Given the description of an element on the screen output the (x, y) to click on. 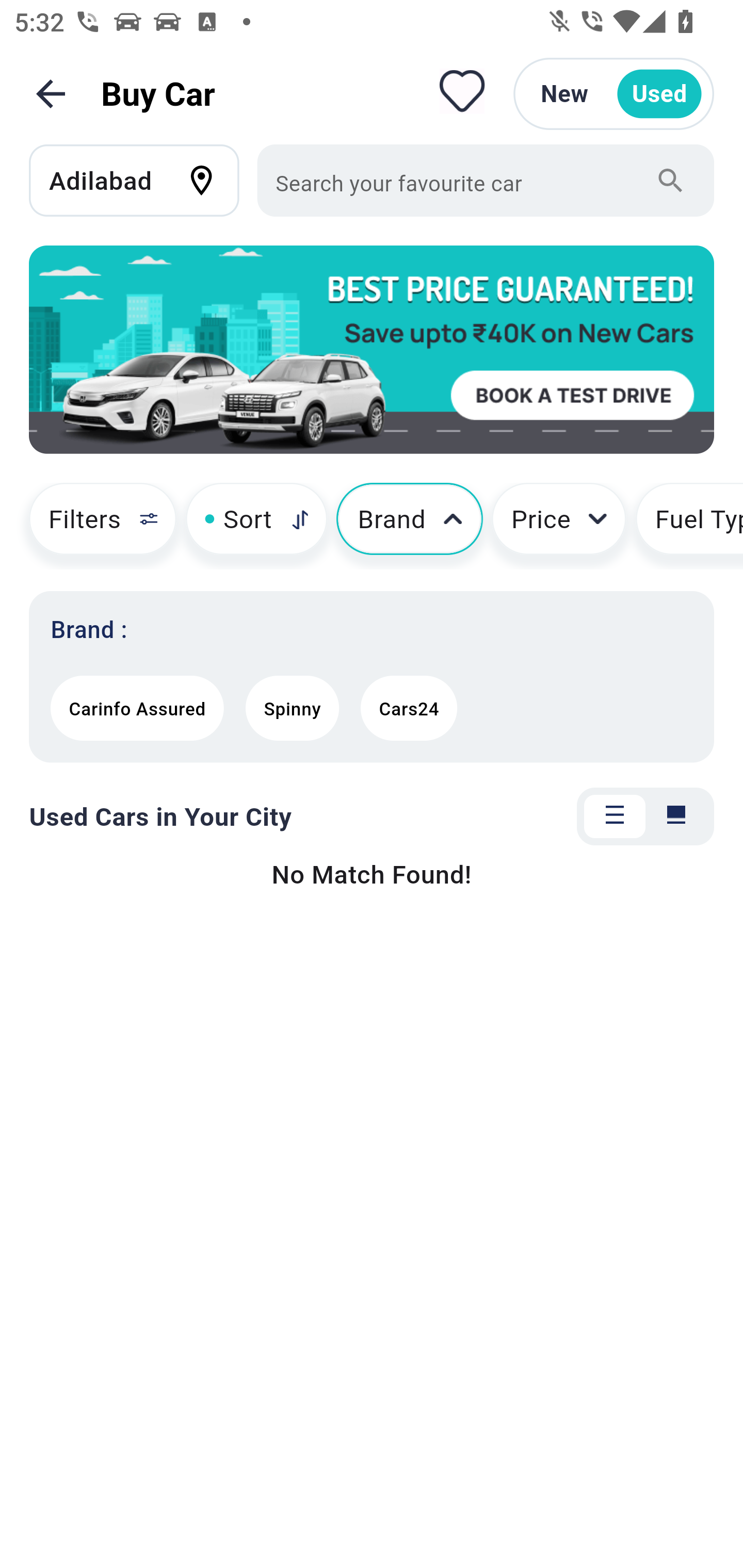
Back (50, 93)
New (564, 93)
Used (659, 93)
Adilabad (142, 180)
Filters (93, 525)
Sort (255, 525)
Brand (409, 525)
Price (558, 525)
Fuel Type (689, 525)
Carinfo Assured (136, 707)
Spinny (291, 707)
Cars24 (408, 707)
Tab 1 of 2 (614, 816)
Tab 2 of 2 (675, 816)
